Given the description of an element on the screen output the (x, y) to click on. 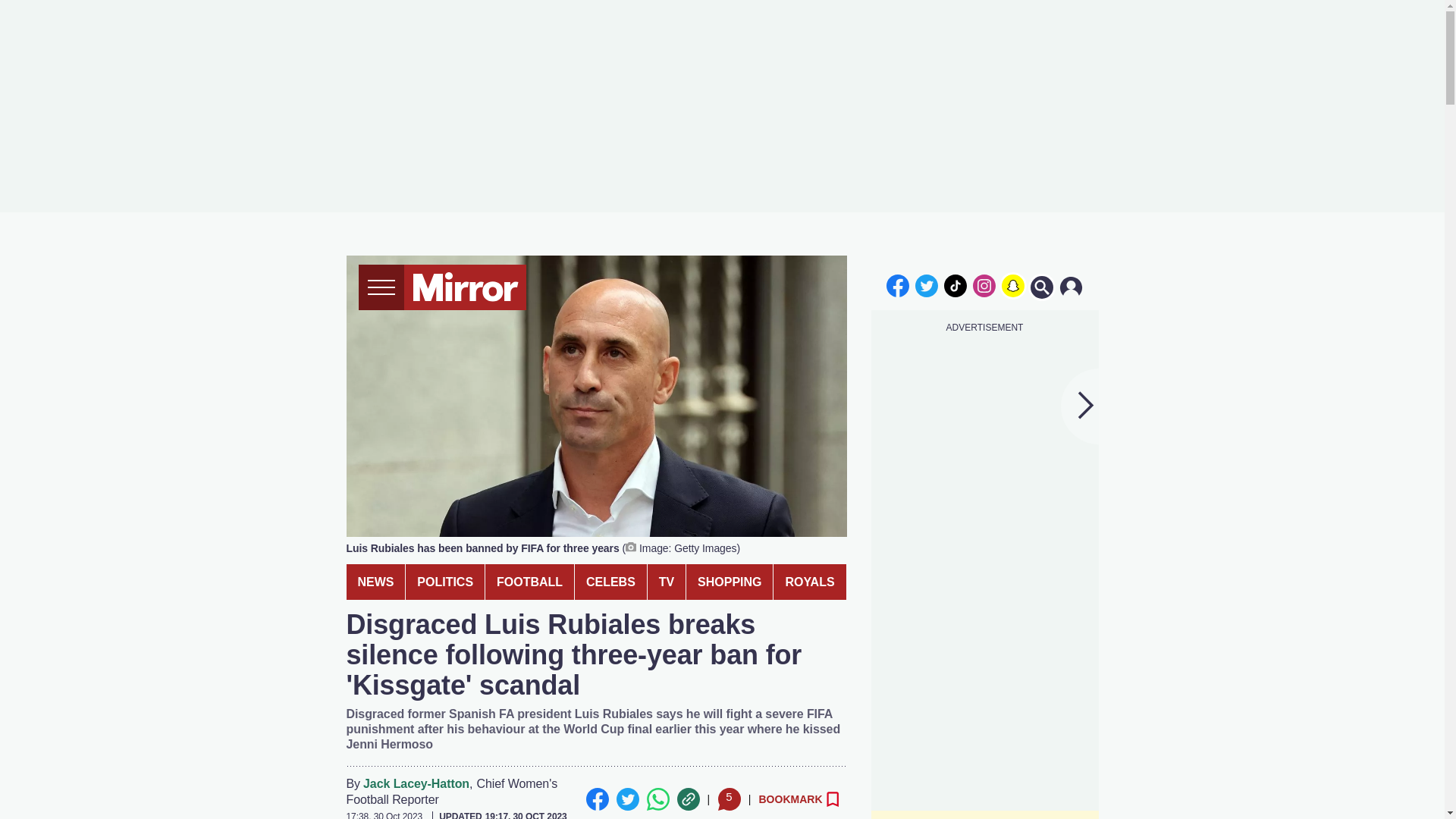
twitter (926, 285)
facebook (897, 285)
Facebook (596, 798)
instagram (984, 285)
Twitter (627, 798)
tiktok (955, 285)
snapchat (1012, 285)
